Given the description of an element on the screen output the (x, y) to click on. 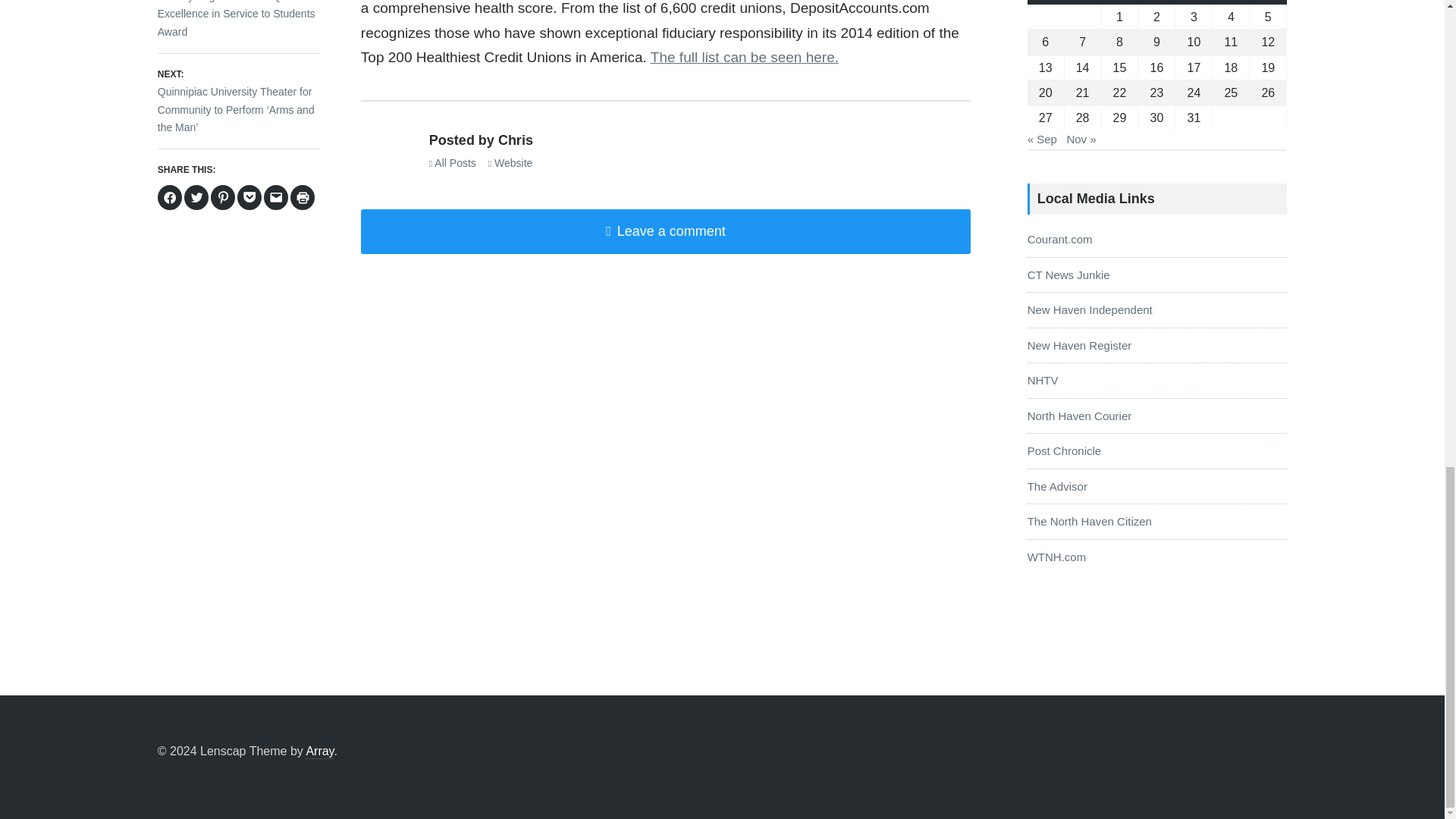
Click to share on Facebook (169, 197)
Click to share on Twitter (196, 197)
Monday (1045, 2)
Click to share on Pocket (249, 197)
The full list can be seen here. (744, 57)
Leave a comment (666, 231)
Click to print (301, 197)
Website (509, 162)
Click to share on Pinterest (222, 197)
Click to email a link to a friend (275, 197)
